Given the description of an element on the screen output the (x, y) to click on. 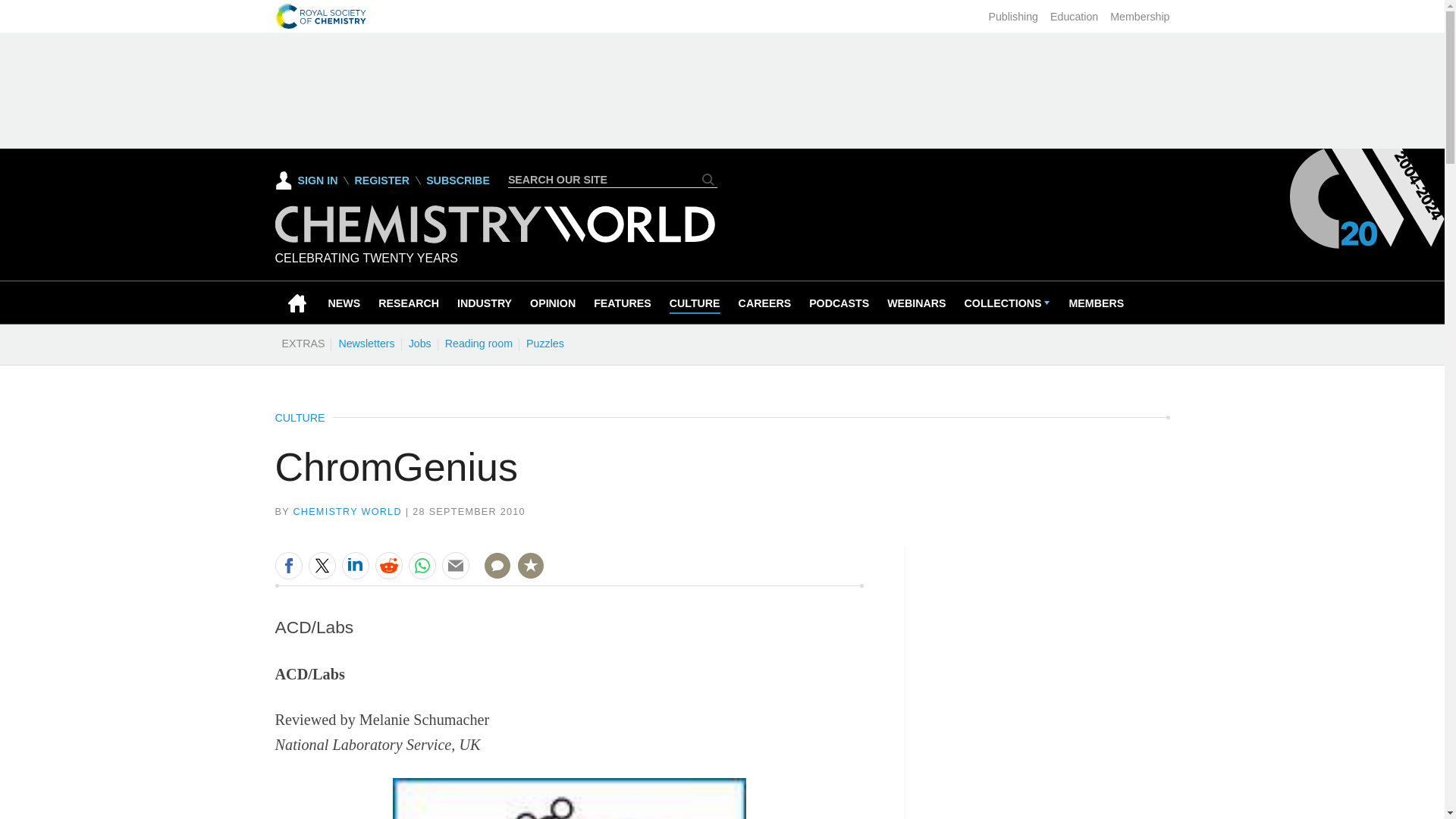
Publishing (1013, 16)
Chemistry World (494, 224)
Share this on Facebook (288, 565)
Education (1073, 16)
Share this by email (454, 565)
REGISTER (381, 180)
Share this on WhatsApp (421, 565)
Share this on Reddit (387, 565)
Puzzles (544, 343)
Chemistry World (494, 238)
Membership (1139, 16)
SEARCH (708, 179)
Reading room (478, 343)
Newsletters (366, 343)
SUBSCRIBE (457, 180)
